Given the description of an element on the screen output the (x, y) to click on. 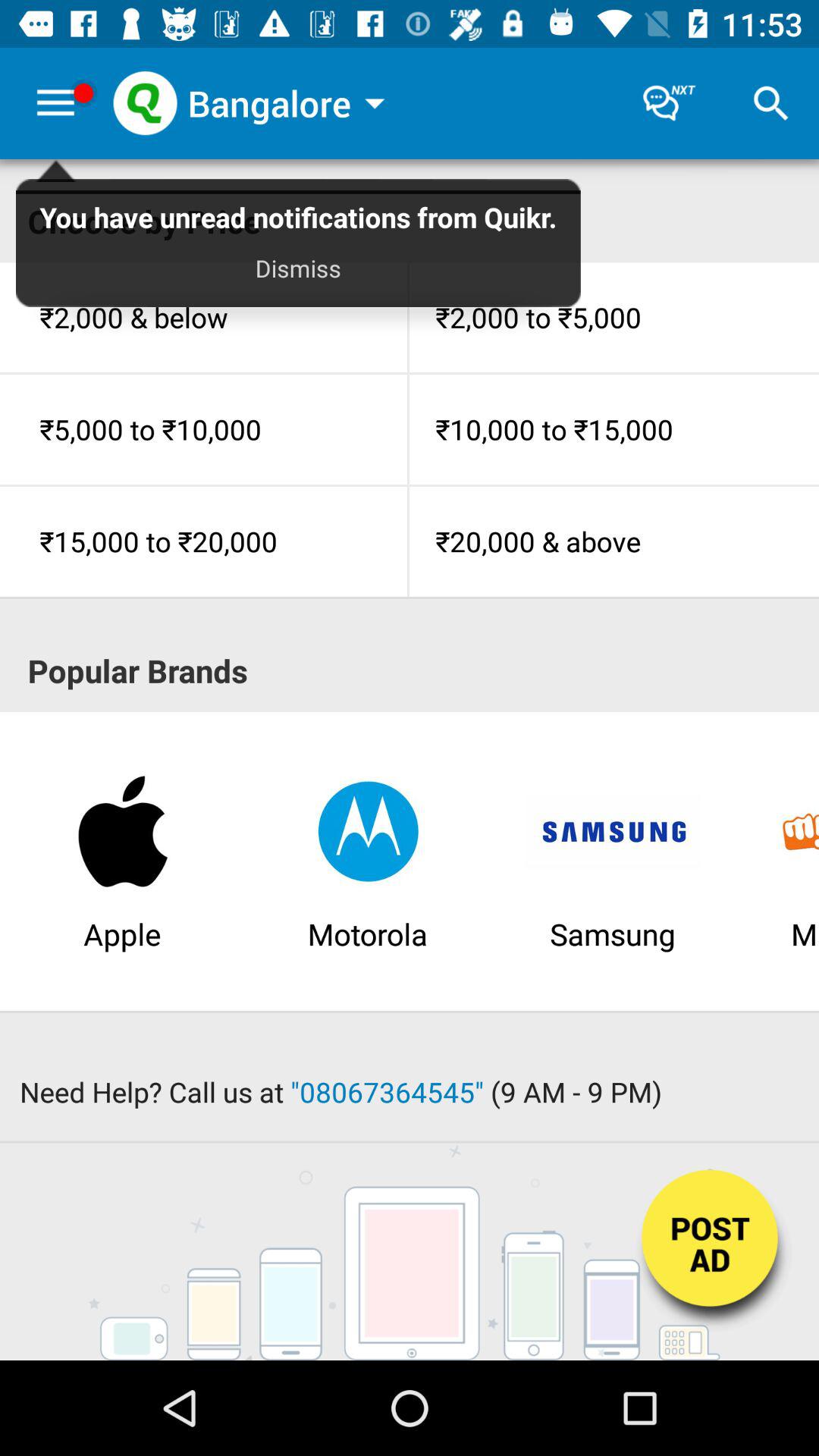
chat (669, 103)
